Given the description of an element on the screen output the (x, y) to click on. 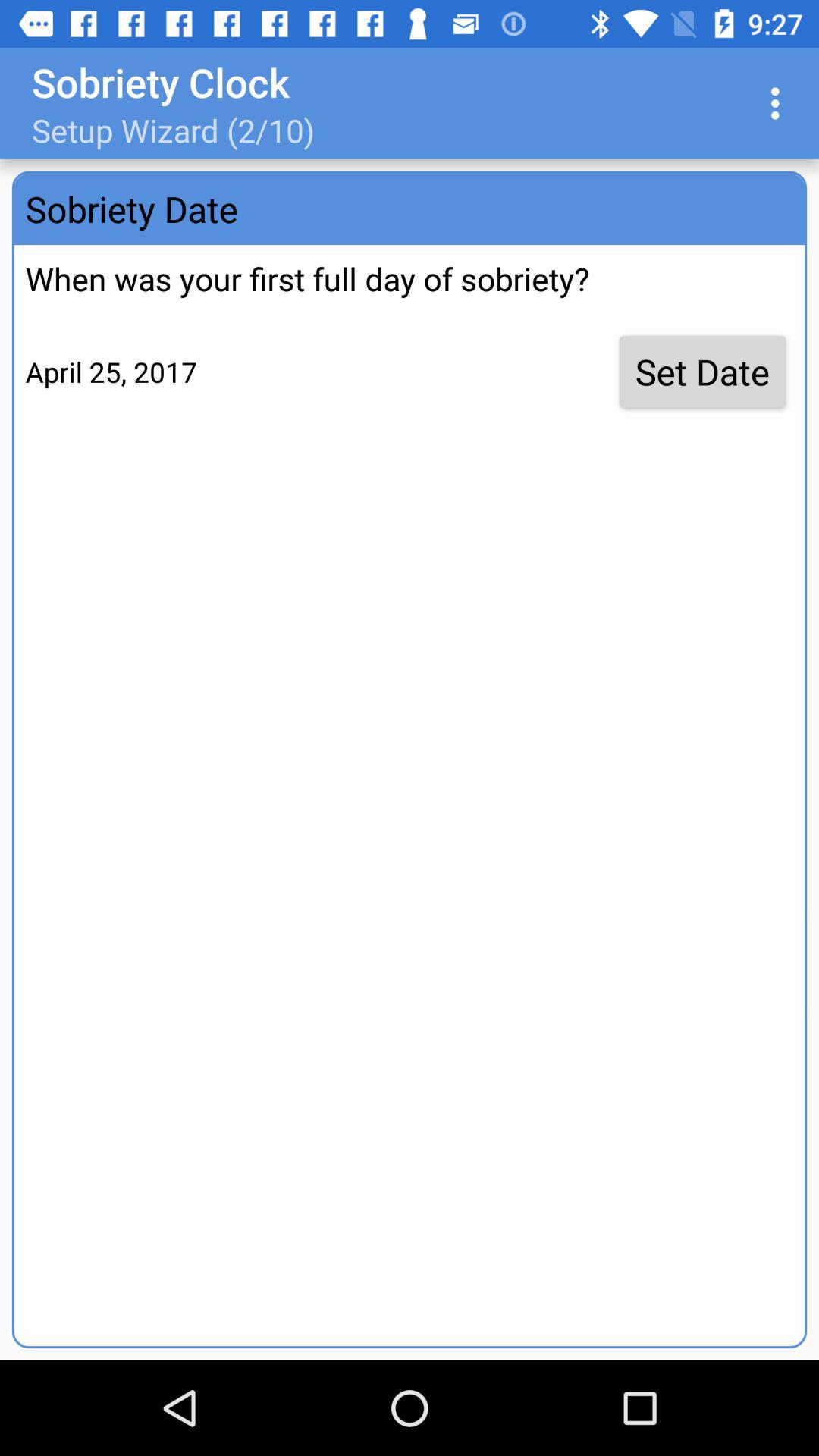
open the item below sobriety date item (702, 371)
